Given the description of an element on the screen output the (x, y) to click on. 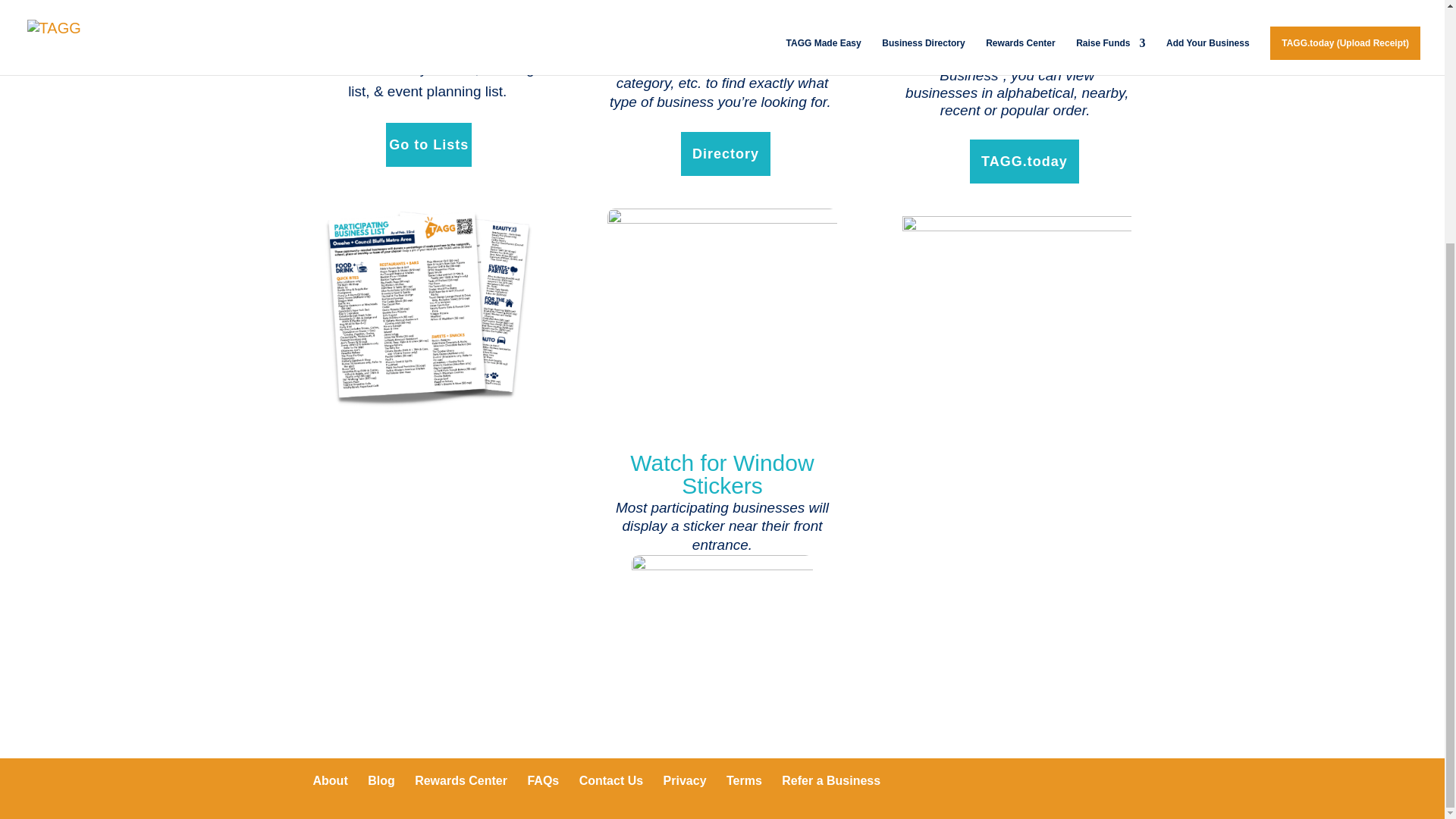
Refer a Business (830, 780)
Blog (381, 780)
Terms (743, 780)
Screenshot 2023-07-25 at 9.47.33 PM (721, 267)
TAGG.today (1023, 161)
FAQs (543, 780)
Contact Us (611, 780)
Privacy (684, 780)
About (330, 780)
Screenshot 2023-07-25 at 9.53.20 PM (1016, 323)
